Given the description of an element on the screen output the (x, y) to click on. 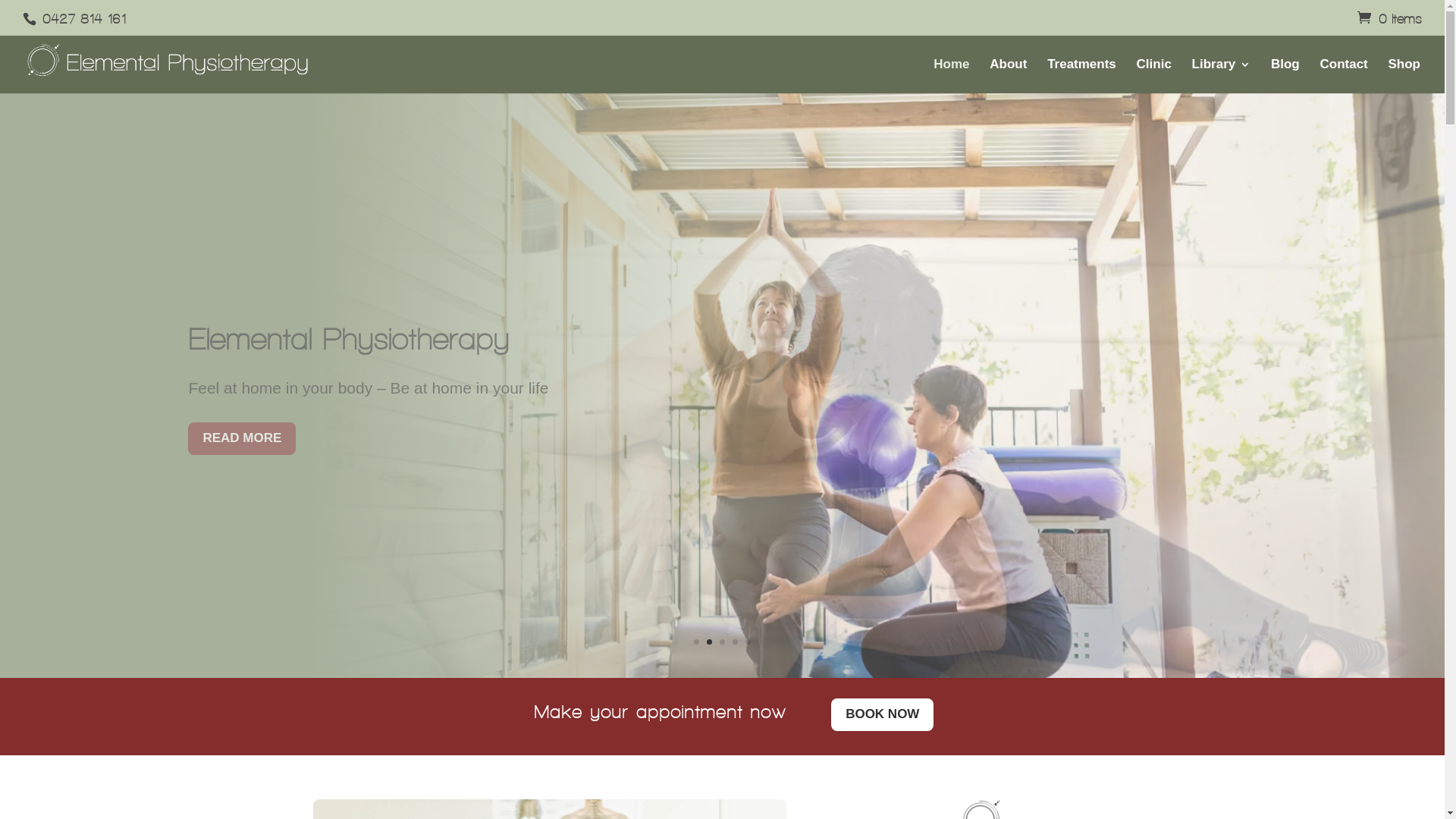
Library Element type: text (1221, 76)
1 Element type: text (696, 641)
Shop Element type: text (1403, 76)
3 Element type: text (721, 641)
Elemental Physiotherapy Element type: text (348, 338)
5 Element type: text (747, 641)
Treatments Element type: text (1081, 76)
4 Element type: text (734, 641)
0 Items Element type: text (1389, 17)
READ MORE Element type: text (241, 438)
About Element type: text (1007, 76)
Home Element type: text (951, 76)
Clinic Element type: text (1153, 76)
2 Element type: text (709, 641)
BOOK NOW Element type: text (882, 714)
Contact Element type: text (1343, 76)
Blog Element type: text (1284, 76)
